Given the description of an element on the screen output the (x, y) to click on. 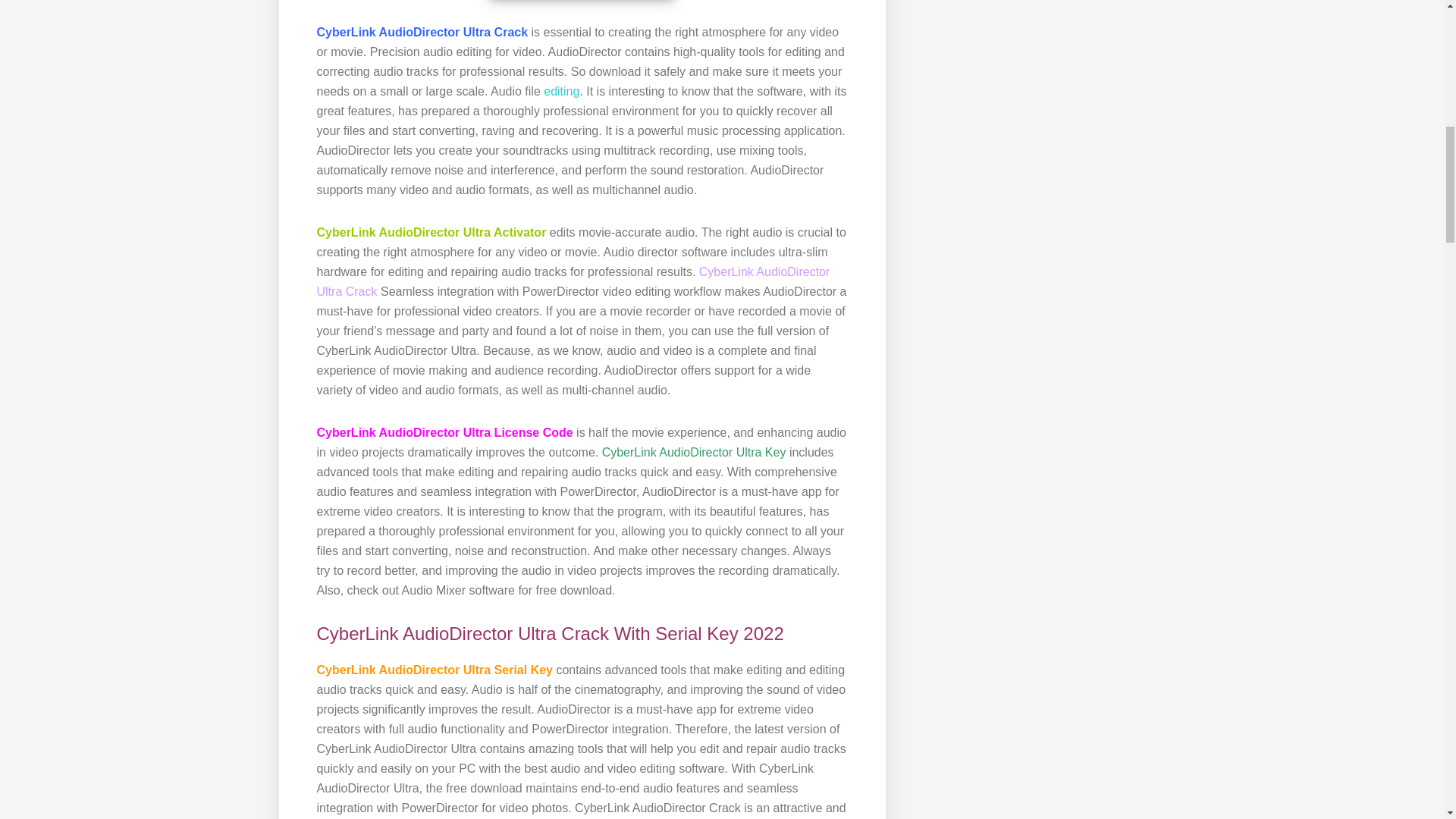
CyberLink AudioDirector Ultra Serial Key  (436, 669)
editing (561, 91)
CyberLink AudioDirector Ultra Key (692, 451)
CyberLink AudioDirector Ultra Crack (573, 281)
CyberLink AudioDirector Ultra Crack (422, 31)
